Given the description of an element on the screen output the (x, y) to click on. 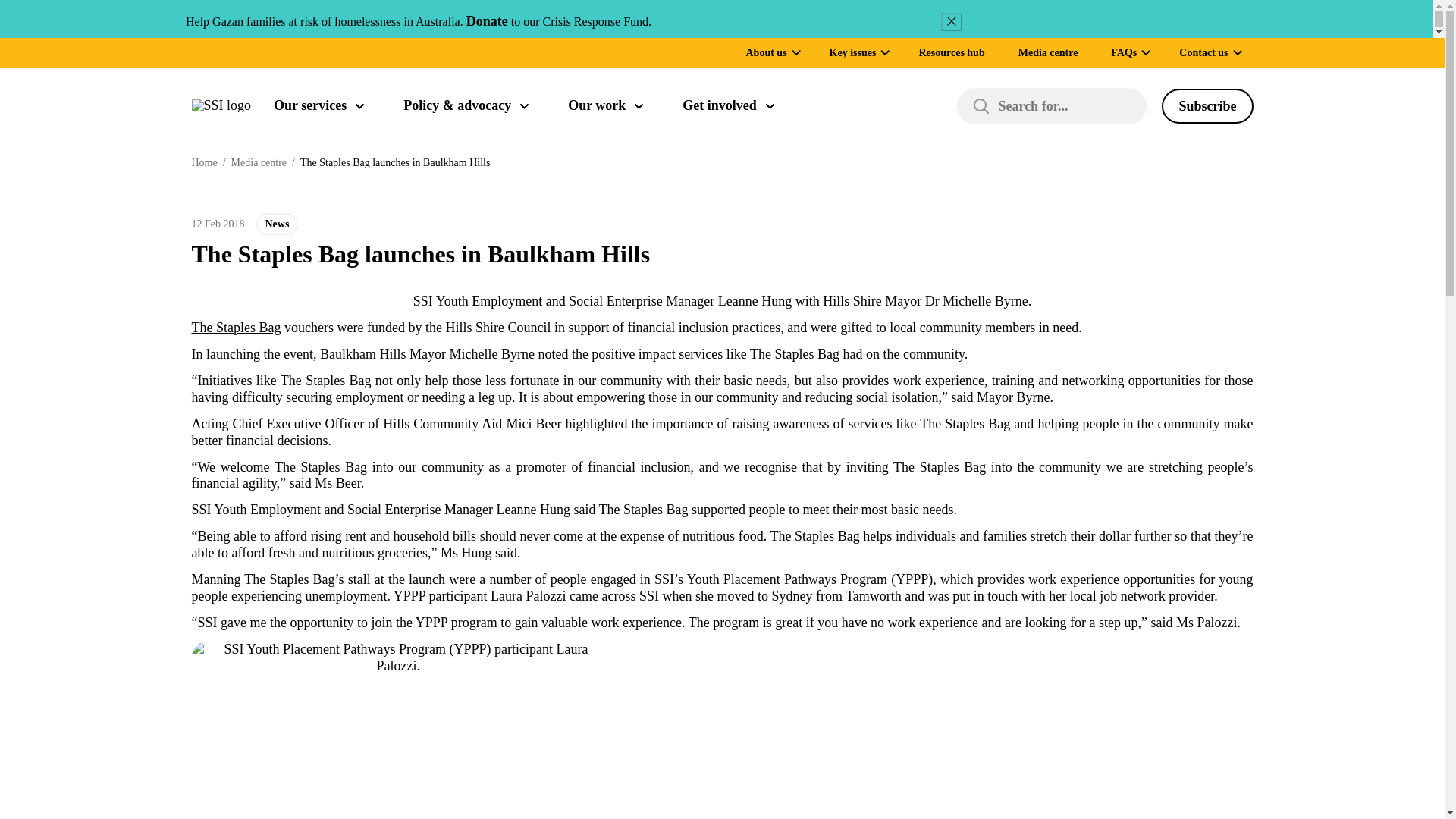
Media centre (1047, 52)
FAQs (1123, 52)
Our services (318, 105)
About us (766, 52)
Contact us (1203, 52)
Donate (486, 20)
Key issues (852, 52)
Resources hub (951, 52)
